Given the description of an element on the screen output the (x, y) to click on. 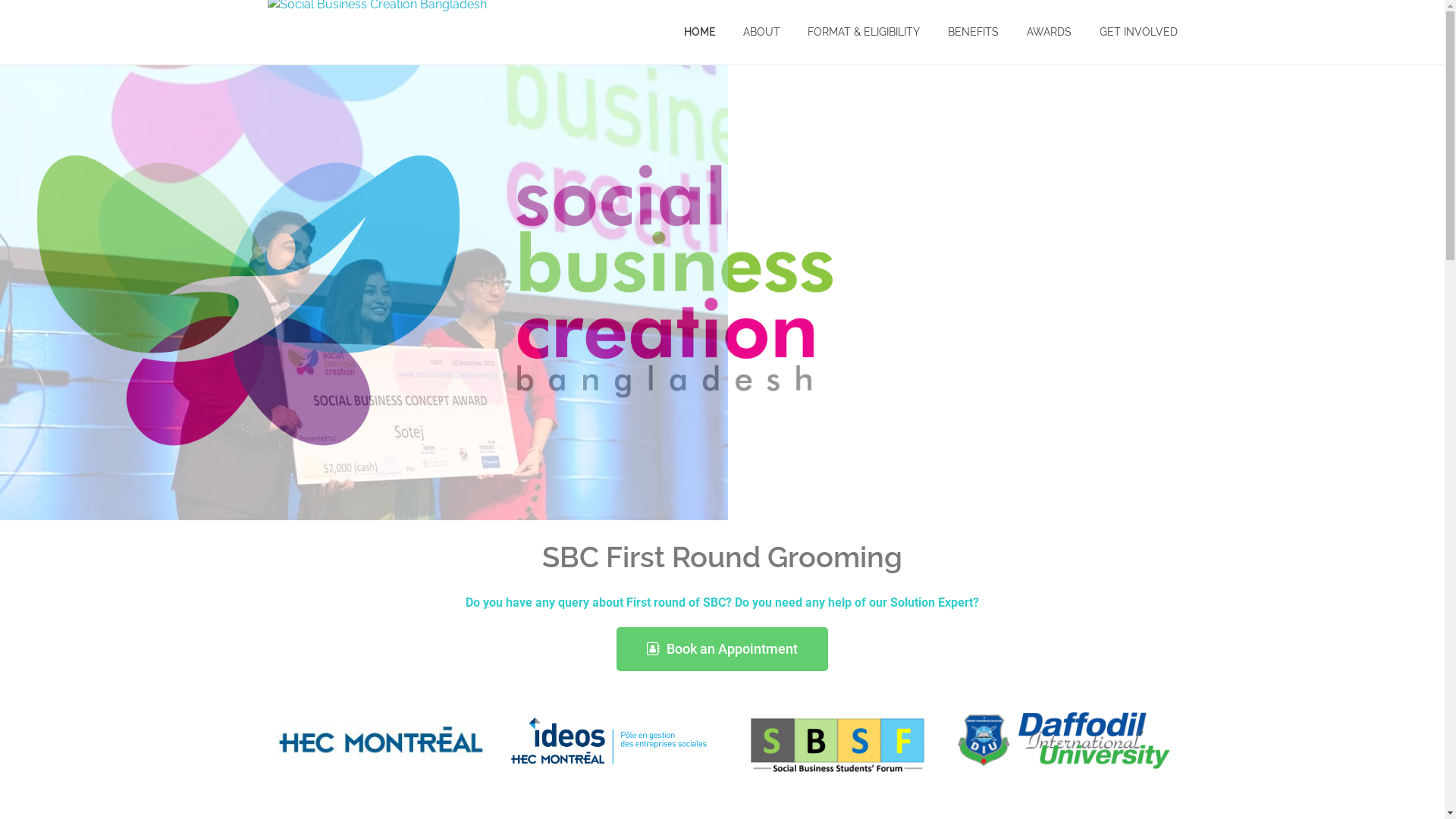
AWARDS Element type: text (1048, 32)
ABOUT Element type: text (760, 32)
BENEFITS Element type: text (973, 32)
Book an Appointment Element type: text (722, 649)
GET INVOLVED Element type: text (1130, 32)
HOME Element type: text (706, 32)
FORMAT & ELIGIBILITY Element type: text (863, 32)
